Given the description of an element on the screen output the (x, y) to click on. 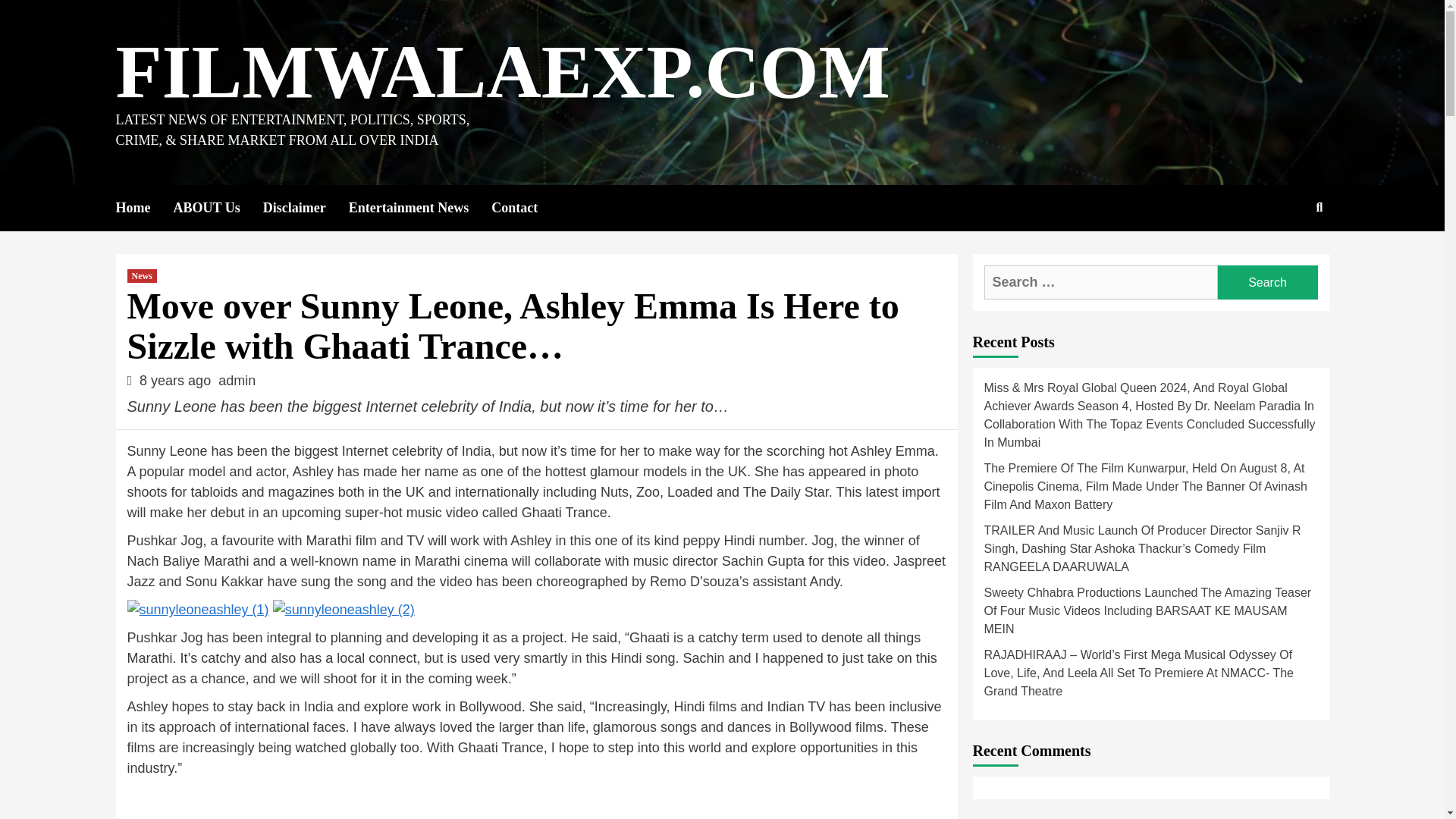
FILMWALAEXP.COM (502, 71)
Contact (526, 207)
Search (1267, 282)
ABOUT Us (217, 207)
News (142, 275)
admin (237, 380)
Search (1283, 256)
Disclaimer (306, 207)
Entertainment News (420, 207)
Home (144, 207)
